Given the description of an element on the screen output the (x, y) to click on. 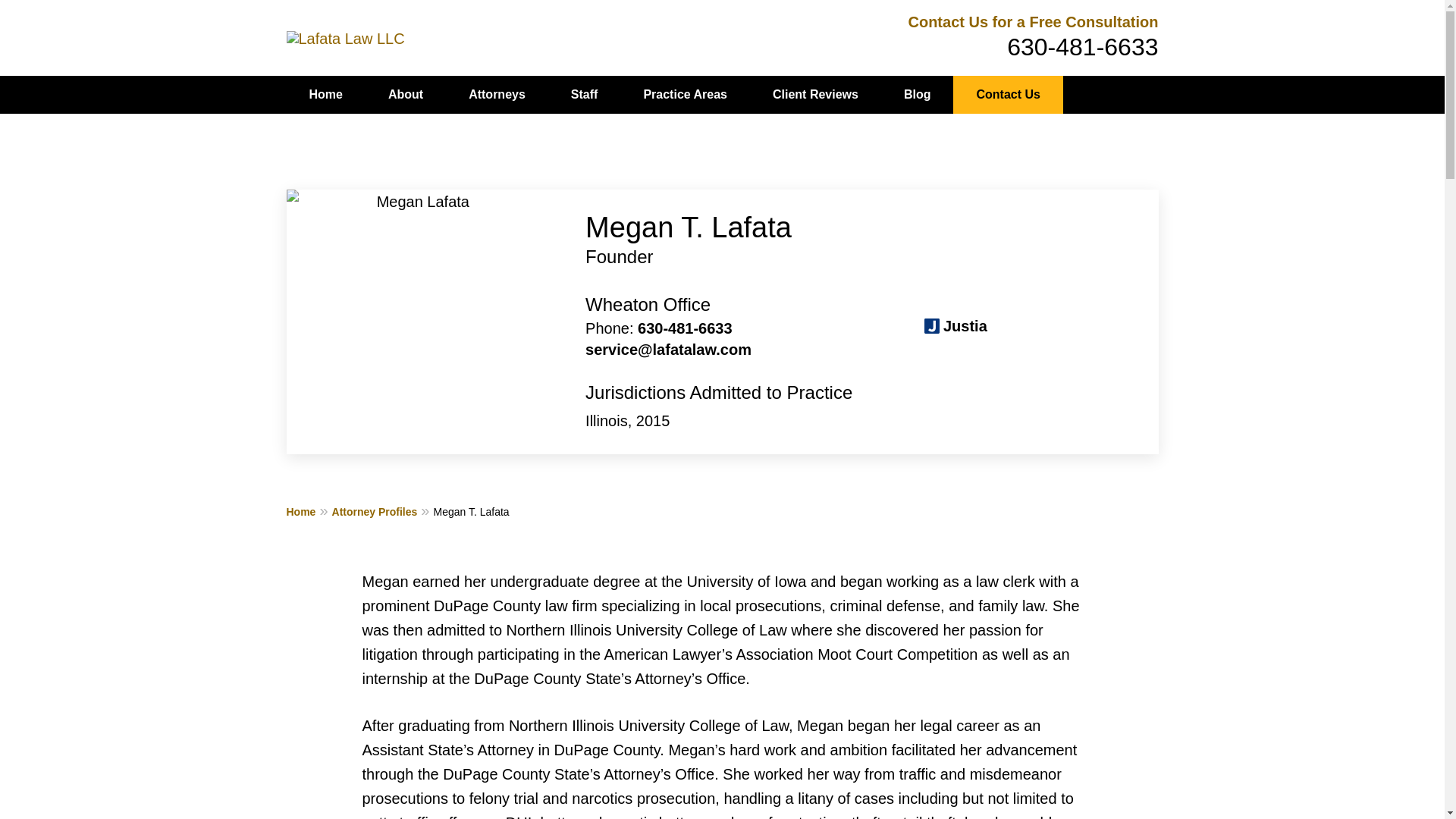
Justia (955, 325)
630-481-6633 (684, 328)
630-481-6633 (1082, 46)
Justia (955, 325)
Home (308, 511)
Practice Areas (684, 94)
Contact Us (1007, 94)
About (405, 94)
Client Reviews (814, 94)
Home (325, 94)
Contact Us for a Free Consultation (1032, 21)
Blog (916, 94)
Attorneys (496, 94)
Attorney Profiles (382, 511)
Staff (584, 94)
